Given the description of an element on the screen output the (x, y) to click on. 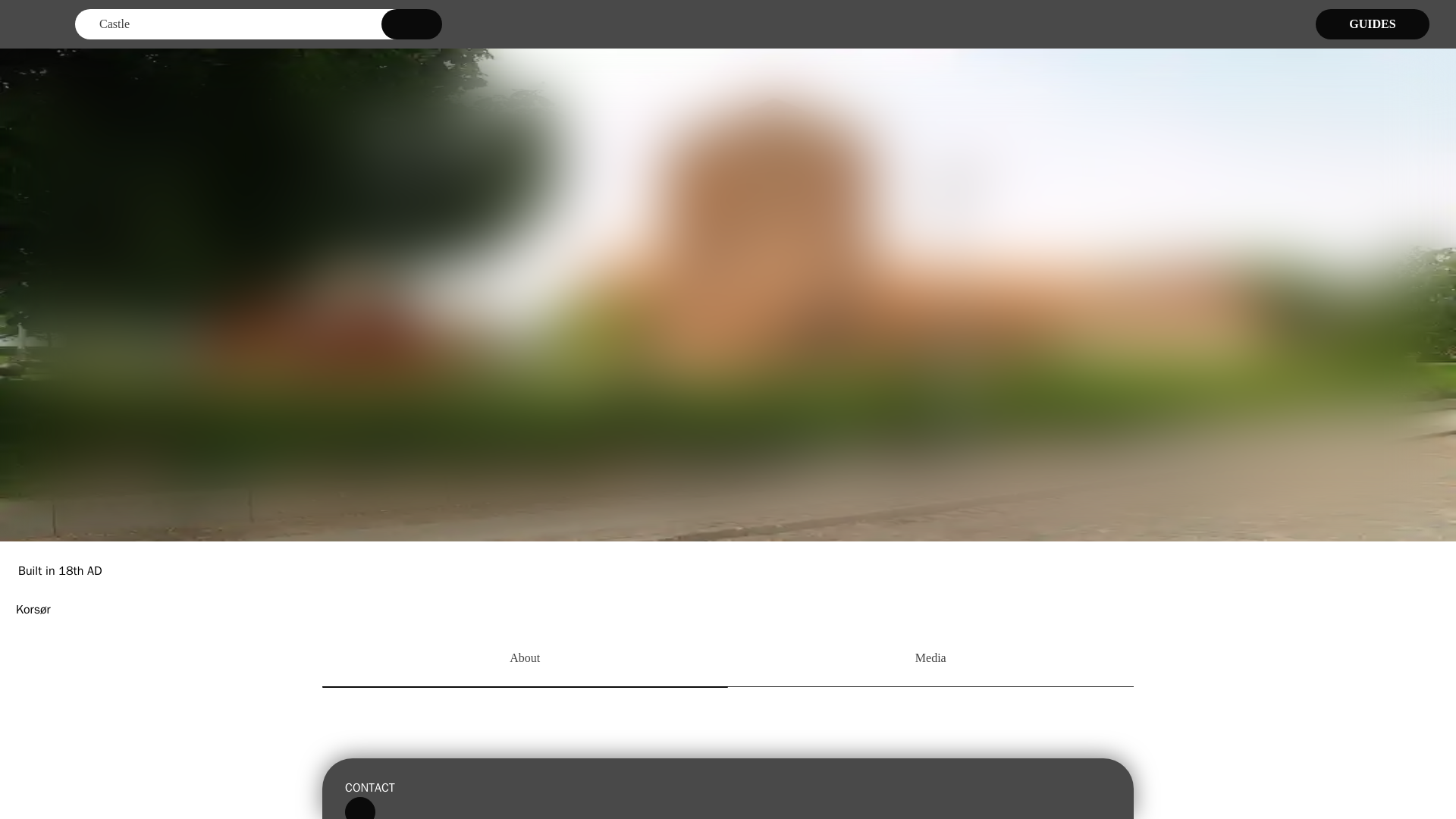
About (524, 660)
Media (931, 660)
GUIDES (1372, 24)
